Given the description of an element on the screen output the (x, y) to click on. 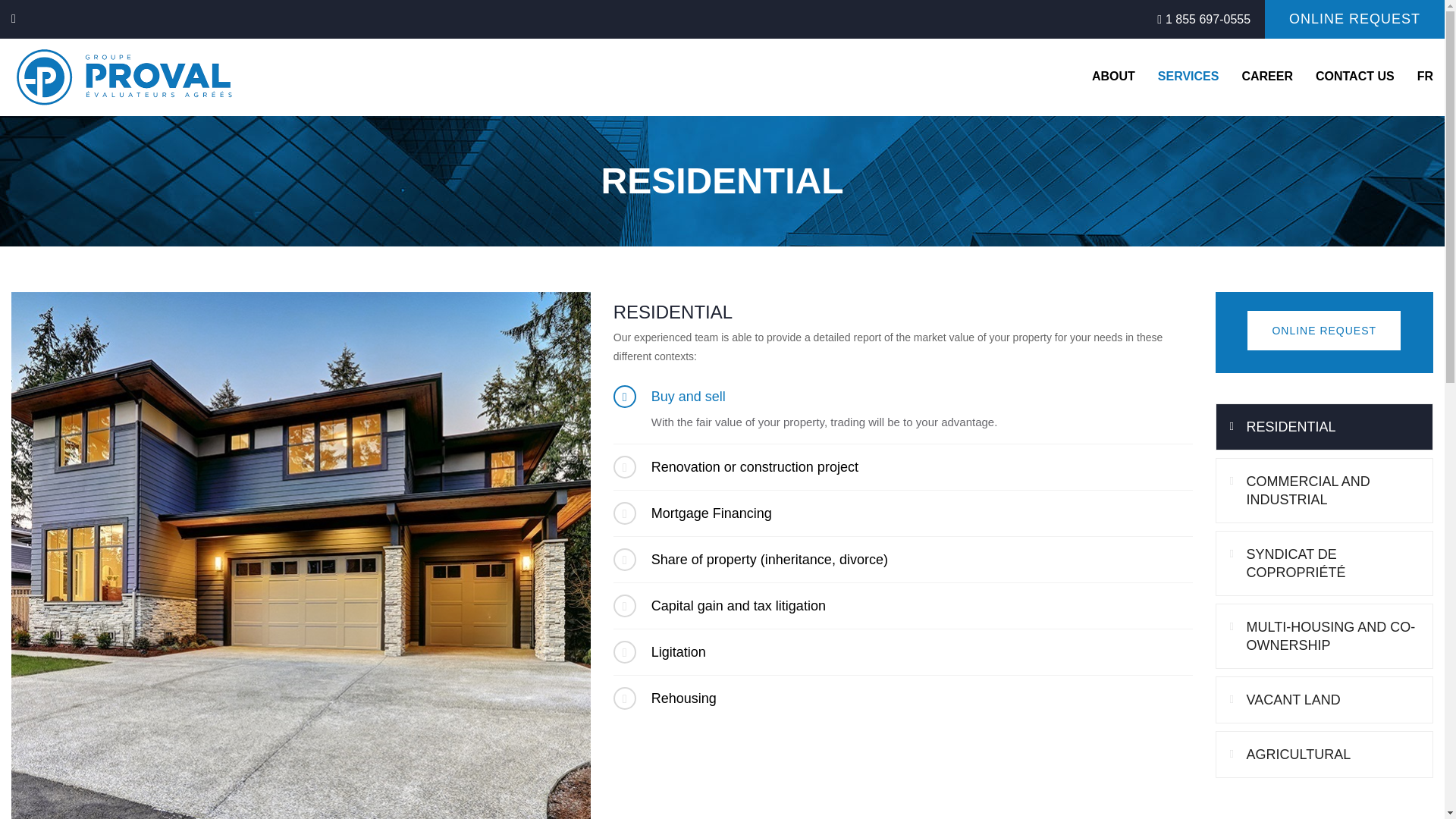
RESIDENTIAL (1323, 426)
COMMERCIAL AND INDUSTRIAL (1323, 490)
ONLINE REQUEST (1323, 330)
CONTACT US (1355, 76)
SERVICES (1188, 76)
1 855 697-0555 (1208, 19)
